Given the description of an element on the screen output the (x, y) to click on. 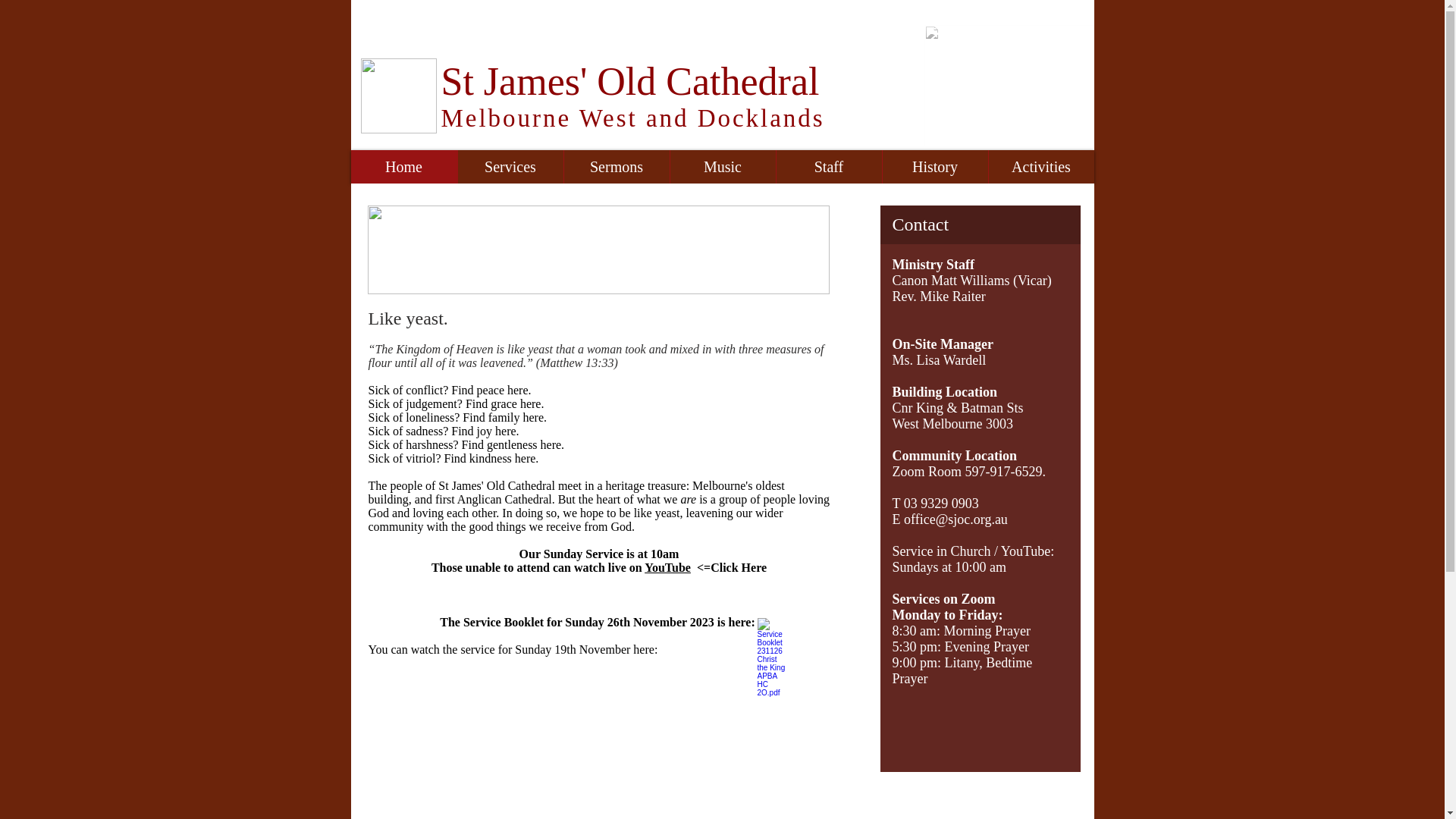
Rev. Mike Raiter Element type: text (938, 296)
Canon Matt Williams (Vicar) Element type: text (971, 280)
Ms. Lisa Wardell Element type: text (938, 359)
Activities Element type: text (1040, 166)
Service Booklet 231126 Christ the King APBA HC 2O.pdf Element type: hover (771, 651)
Staff Element type: text (828, 166)
Cnr King & Batman Sts
West Melbourne 3003 Element type: text (956, 415)
YouTube Element type: text (667, 567)
History Element type: text (934, 166)
Music Element type: text (721, 166)
@sjoc.org.au Element type: text (971, 519)
Services Element type: text (509, 166)
Services on Zoom Element type: text (942, 598)
Home Element type: text (403, 166)
St James' Old Cathedral Element type: text (630, 81)
Sermons Element type: text (615, 166)
